Given the description of an element on the screen output the (x, y) to click on. 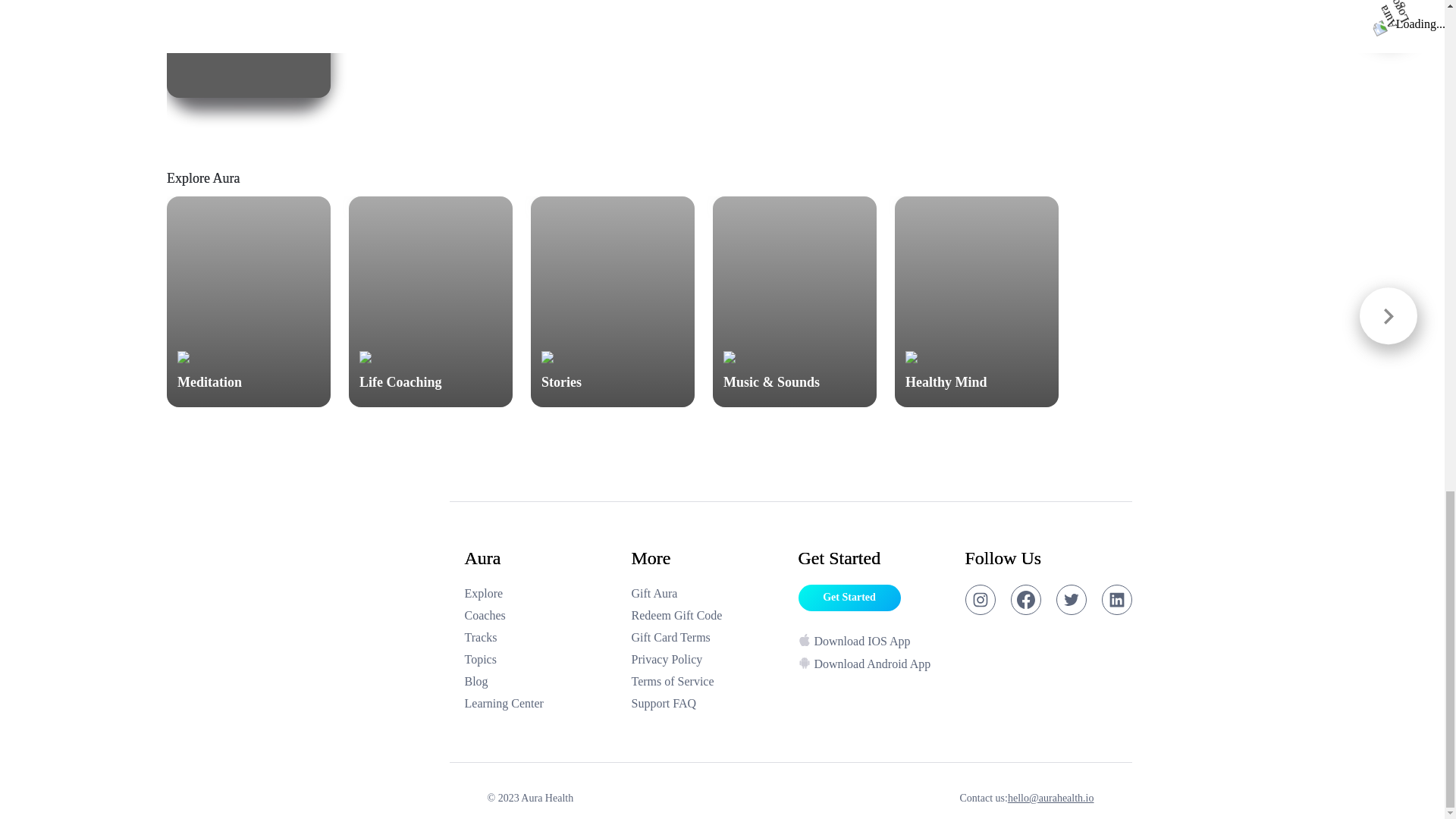
Explore (539, 593)
Support FAQ (539, 659)
Redeem Gift Code (706, 703)
Learning Center (248, 48)
Blog (706, 615)
Download IOS App (539, 703)
Tracks (539, 681)
